Given the description of an element on the screen output the (x, y) to click on. 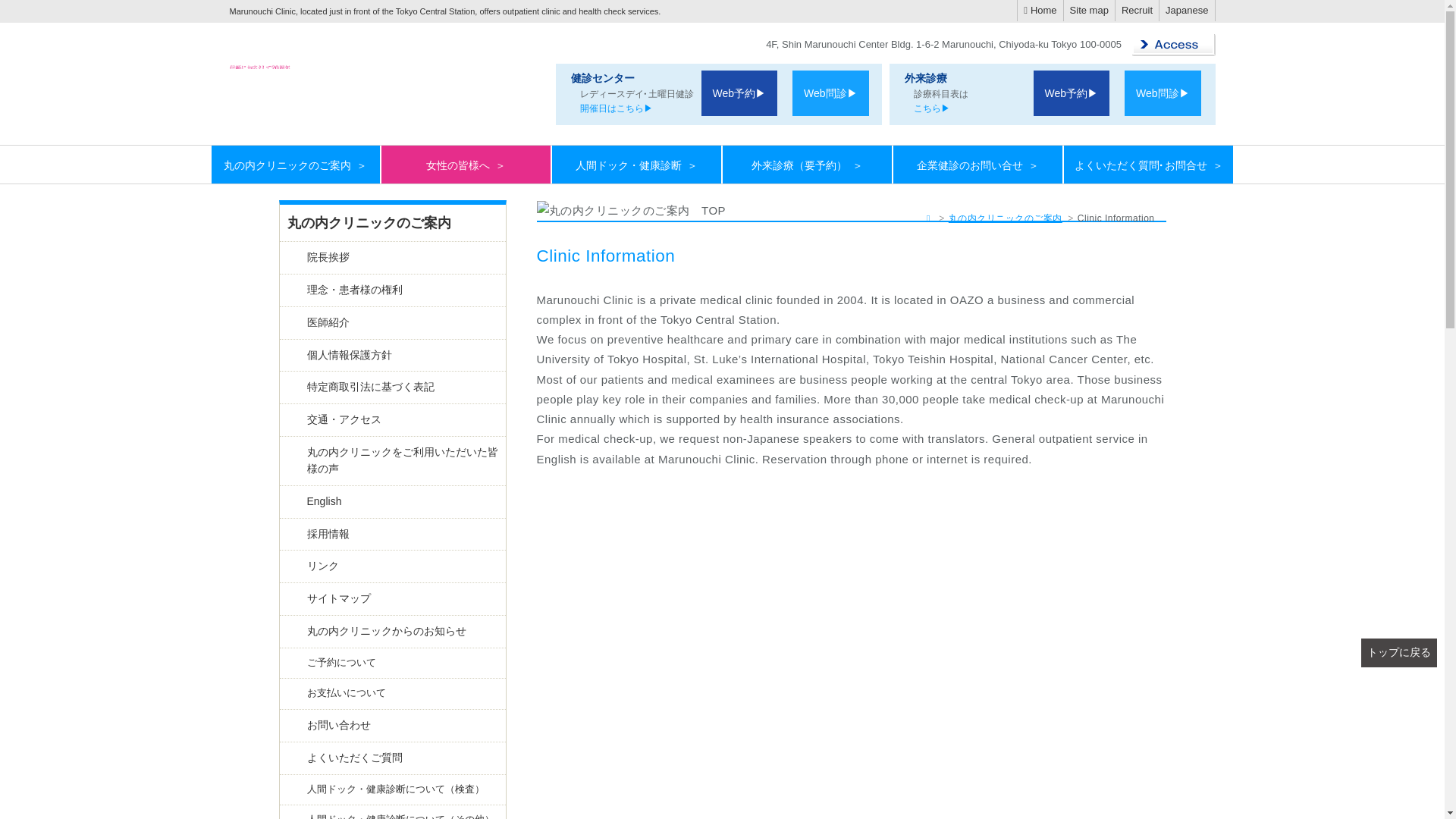
Site map (1089, 10)
English (392, 501)
Japanese (1186, 10)
Home (1039, 10)
Recruit (1136, 10)
